Given the description of an element on the screen output the (x, y) to click on. 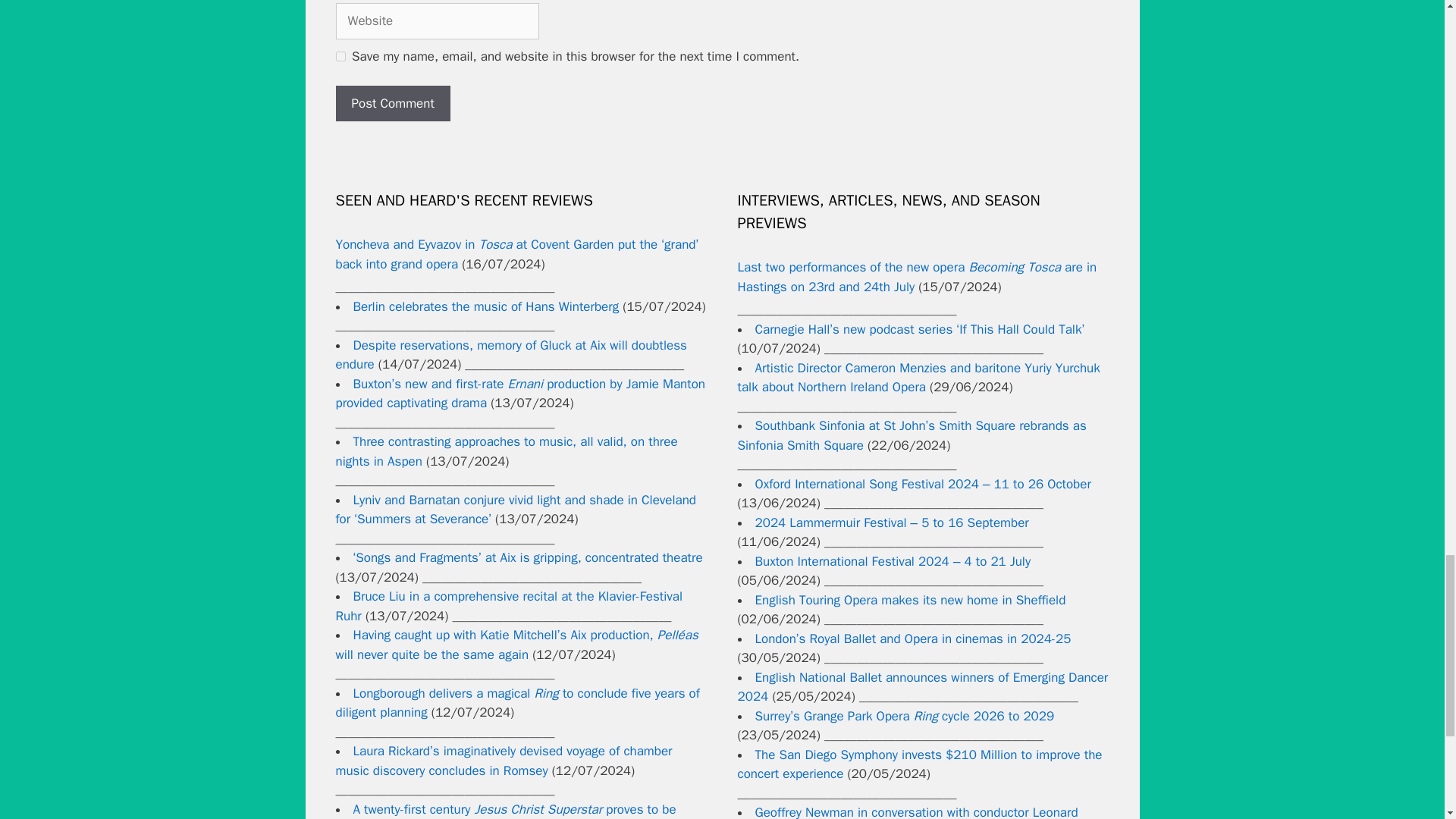
Post Comment (391, 103)
yes (339, 56)
